Given the description of an element on the screen output the (x, y) to click on. 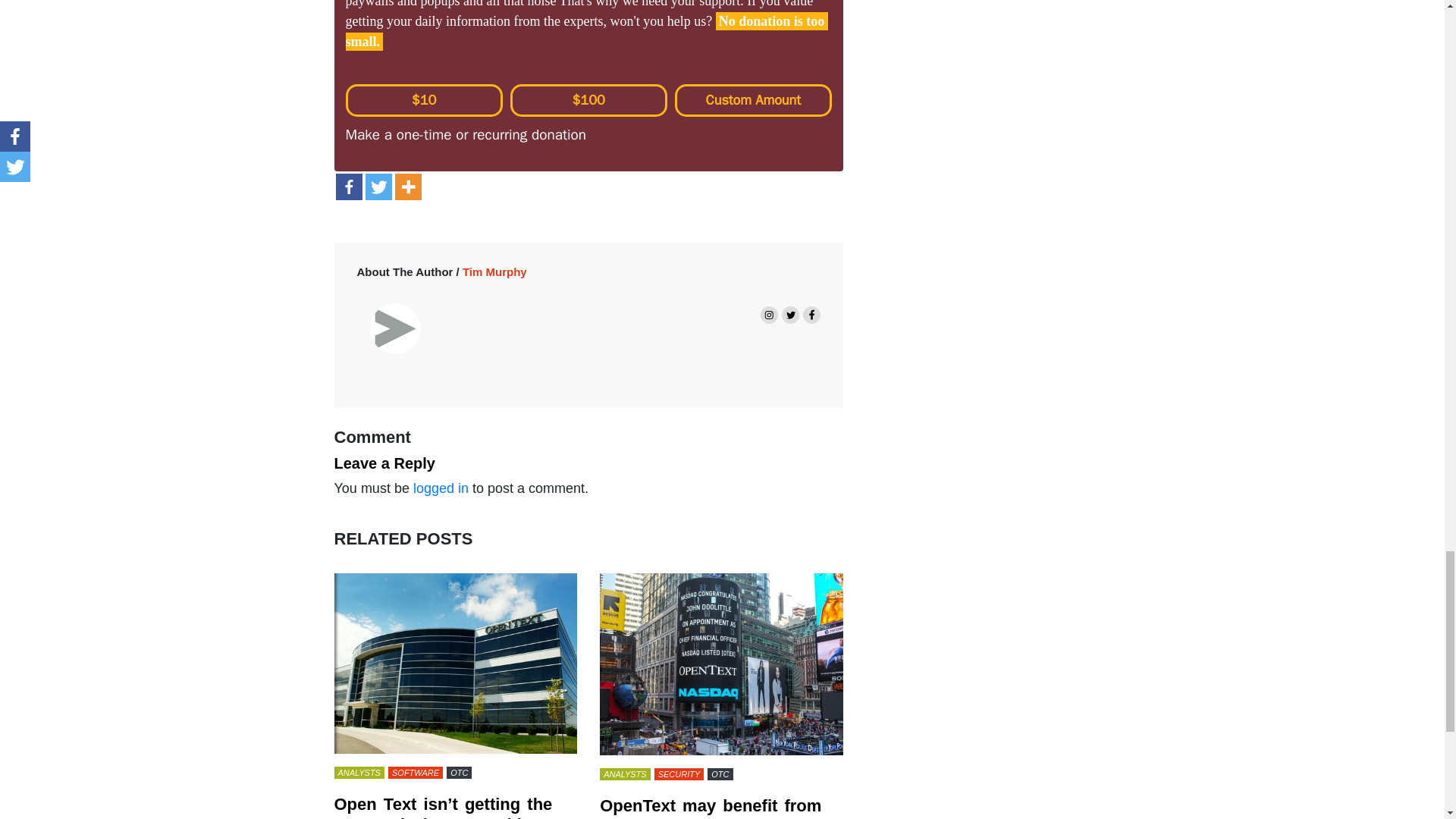
Twitter (378, 186)
More (407, 186)
Facebook (347, 186)
